Given the description of an element on the screen output the (x, y) to click on. 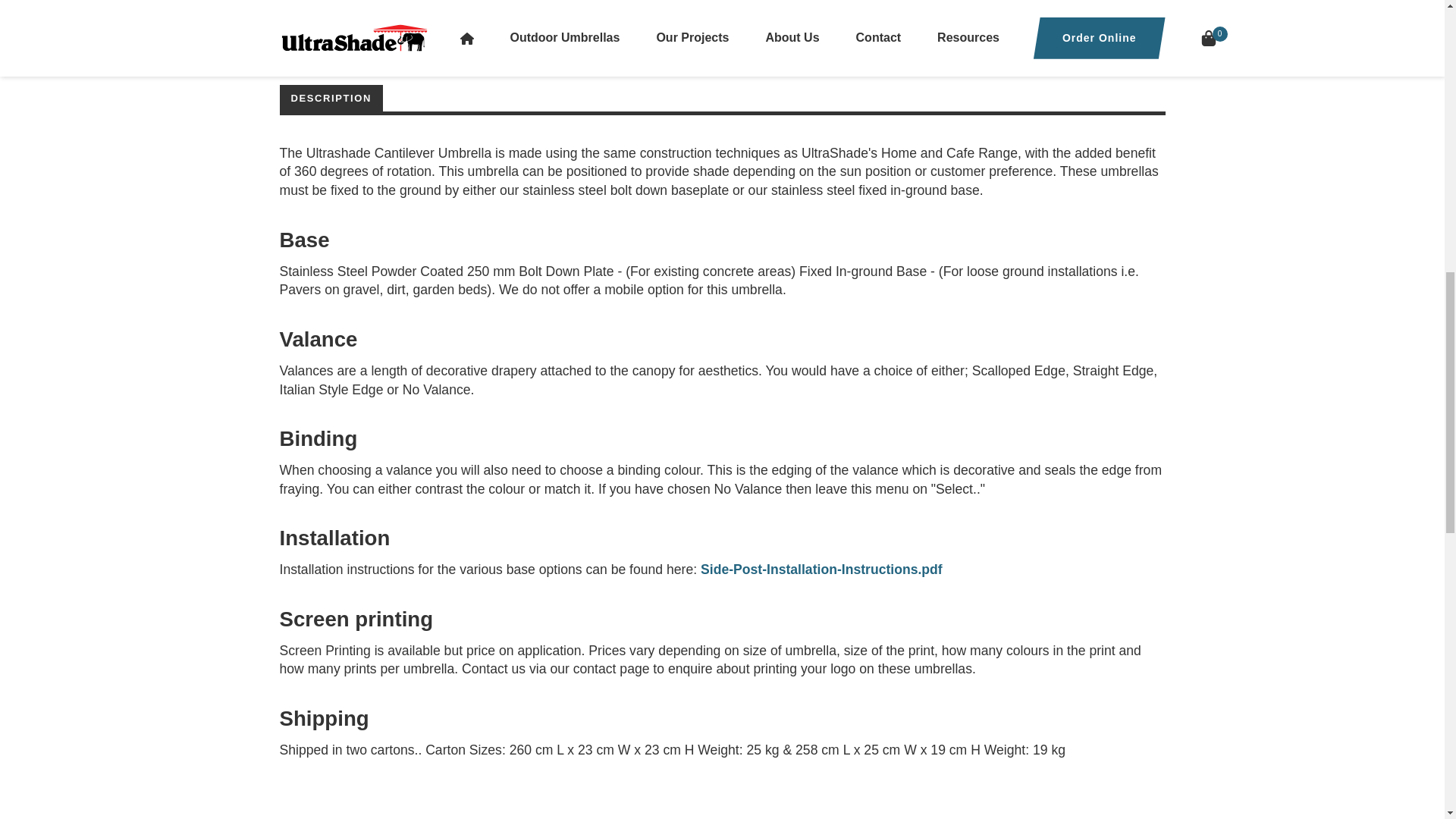
1 (828, 12)
ORDER (1054, 12)
Side-Post-Installation-Instructions.pdf (821, 569)
